Given the description of an element on the screen output the (x, y) to click on. 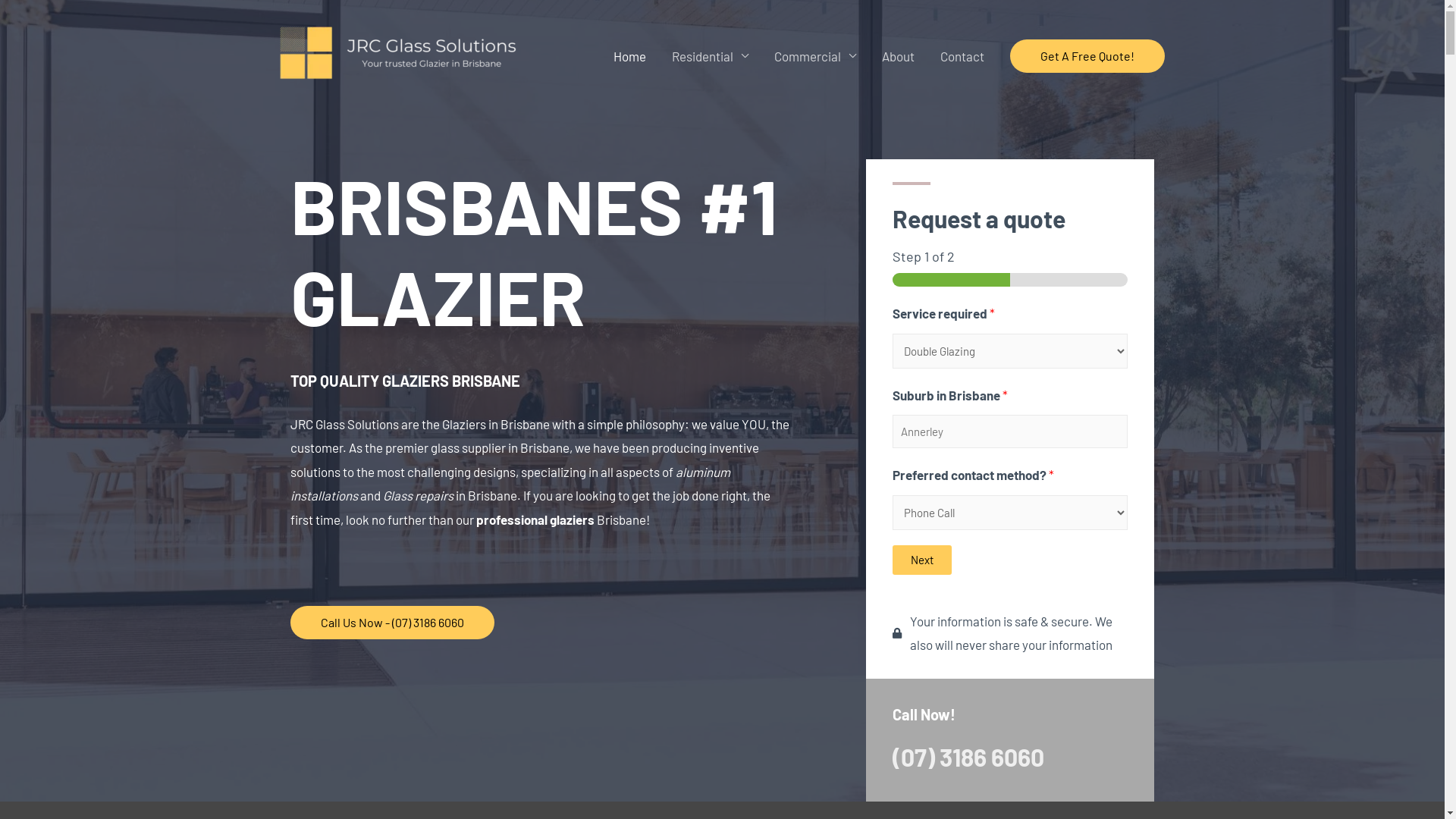
Residential Element type: text (709, 55)
(07) 3186 6060 Element type: text (968, 756)
Next Element type: text (921, 559)
Contact Element type: text (961, 55)
Commercial Element type: text (815, 55)
About Element type: text (898, 55)
Get A Free Quote! Element type: text (1087, 55)
Home Element type: text (629, 55)
Call Us Now - (07) 3186 6060 Element type: text (391, 622)
Call Now! Element type: text (923, 714)
